Given the description of an element on the screen output the (x, y) to click on. 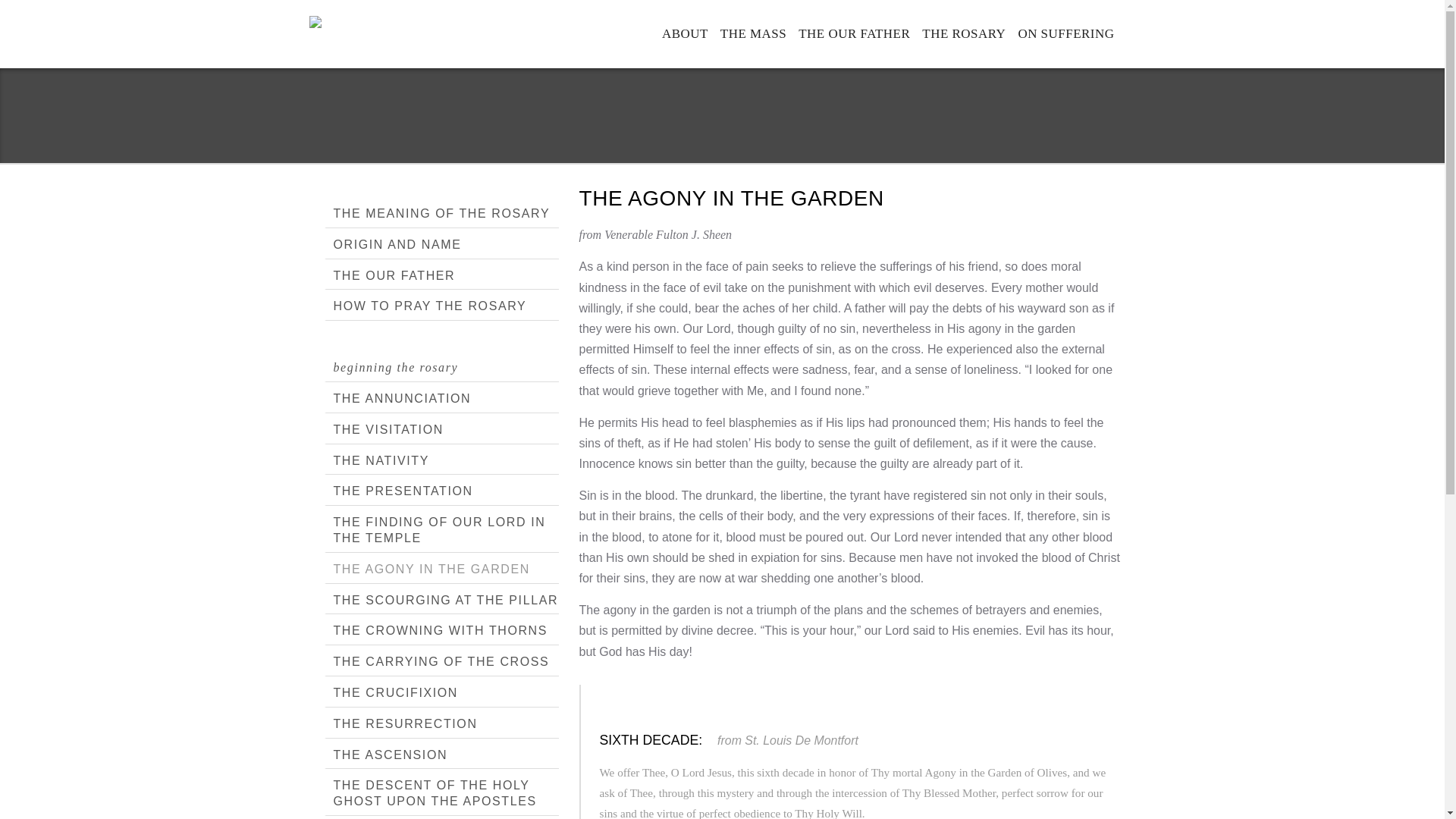
THE CARRYING OF THE CROSS (441, 662)
THE SCOURGING AT THE PILLAR (441, 601)
THE CRUCIFIXION (441, 693)
THE RESURRECTION (441, 724)
THE ANNUNCIATION (441, 399)
THE ASCENSION (441, 755)
THE NATIVITY (441, 461)
ON SUFFERING (1065, 33)
THE DESCENT OF THE HOLY GHOST UPON THE APOSTLES (441, 794)
THE AGONY IN THE GARDEN (441, 569)
